Given the description of an element on the screen output the (x, y) to click on. 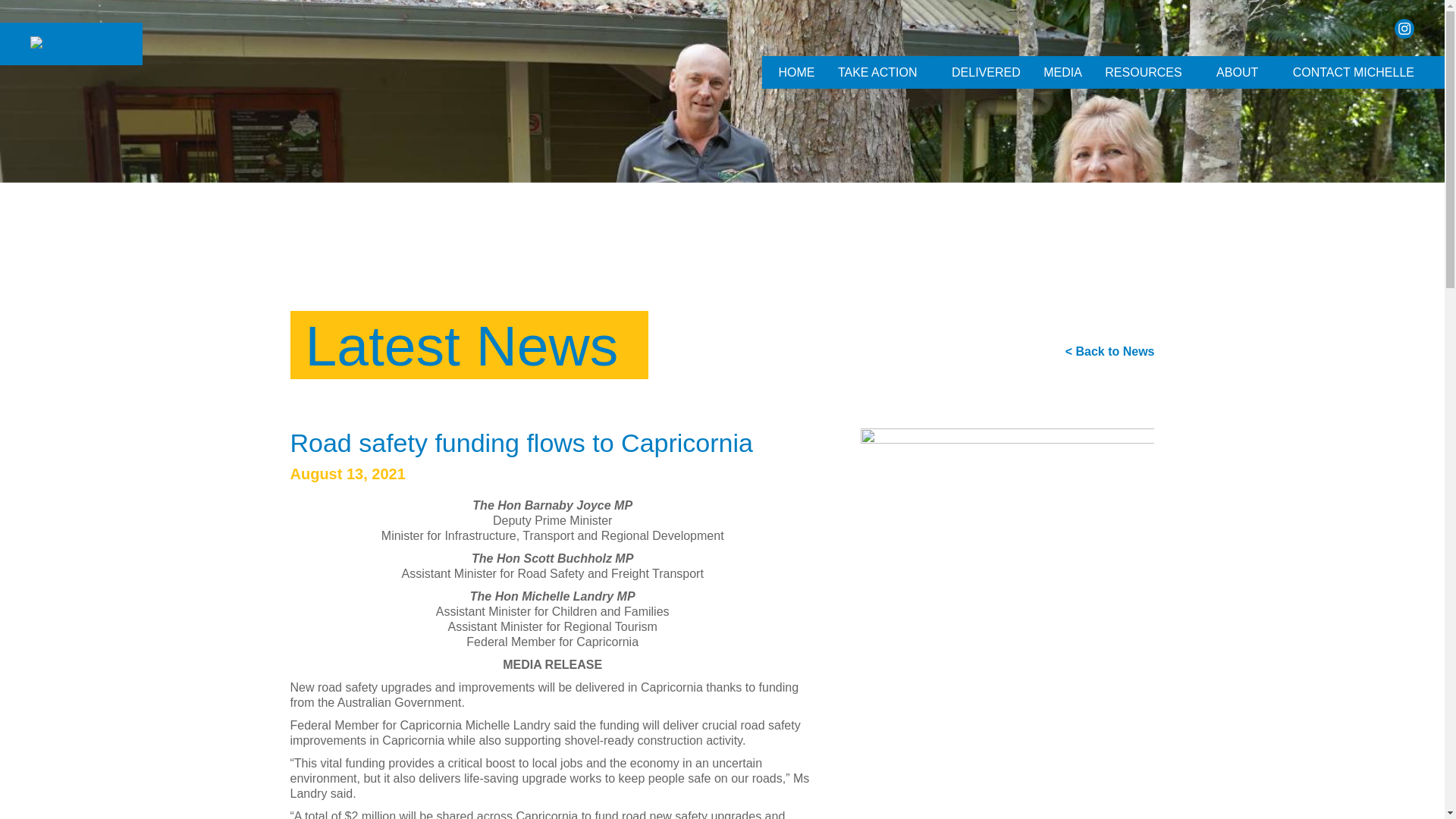
TAKE ACTION (877, 71)
MEDIA (1062, 71)
HOME (796, 71)
August 13, 2021 (346, 474)
DELIVERED (986, 71)
CONTACT MICHELLE (1352, 71)
RESOURCES (1142, 71)
ABOUT (1237, 71)
